Given the description of an element on the screen output the (x, y) to click on. 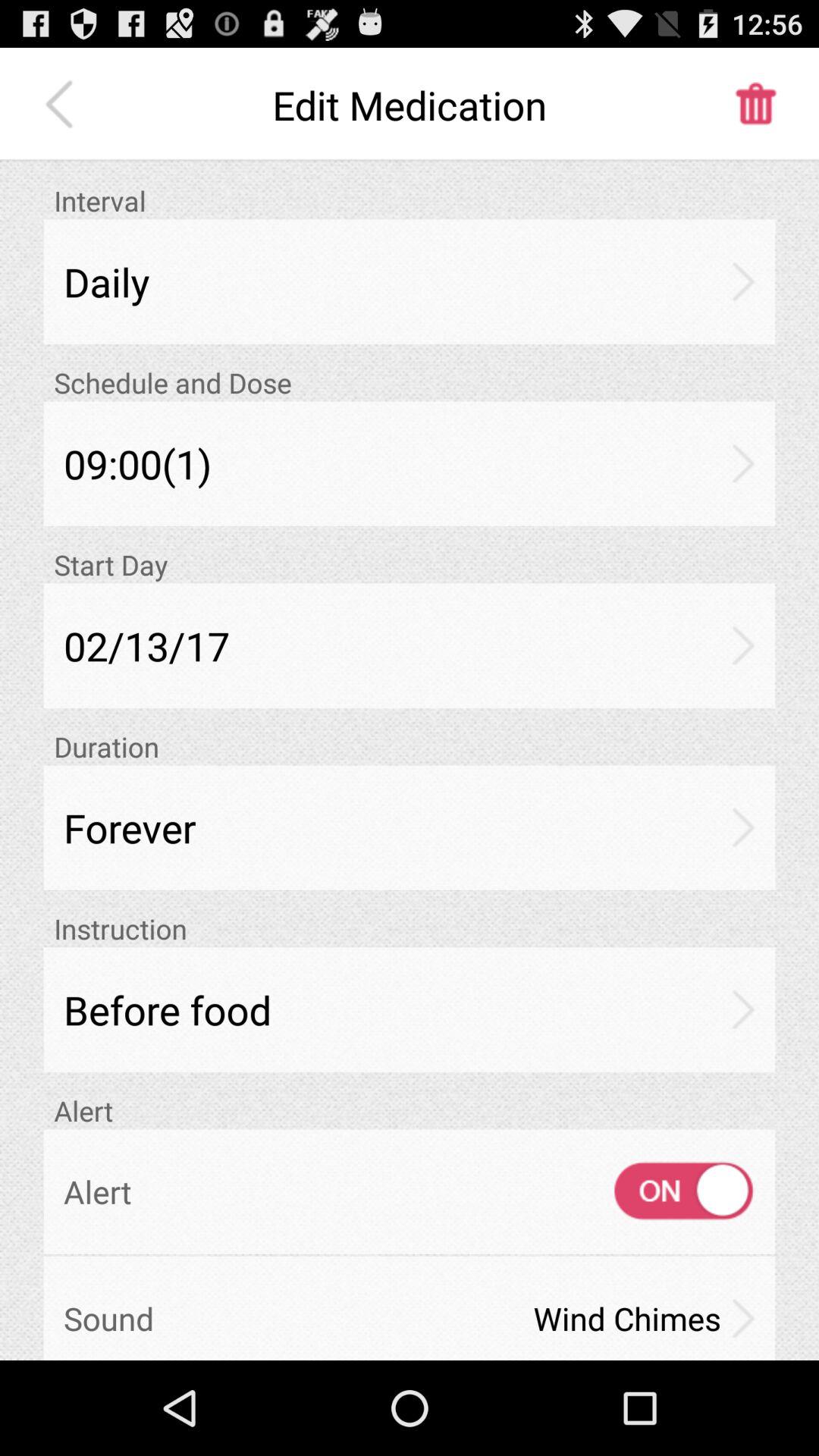
click before food (409, 1009)
